Given the description of an element on the screen output the (x, y) to click on. 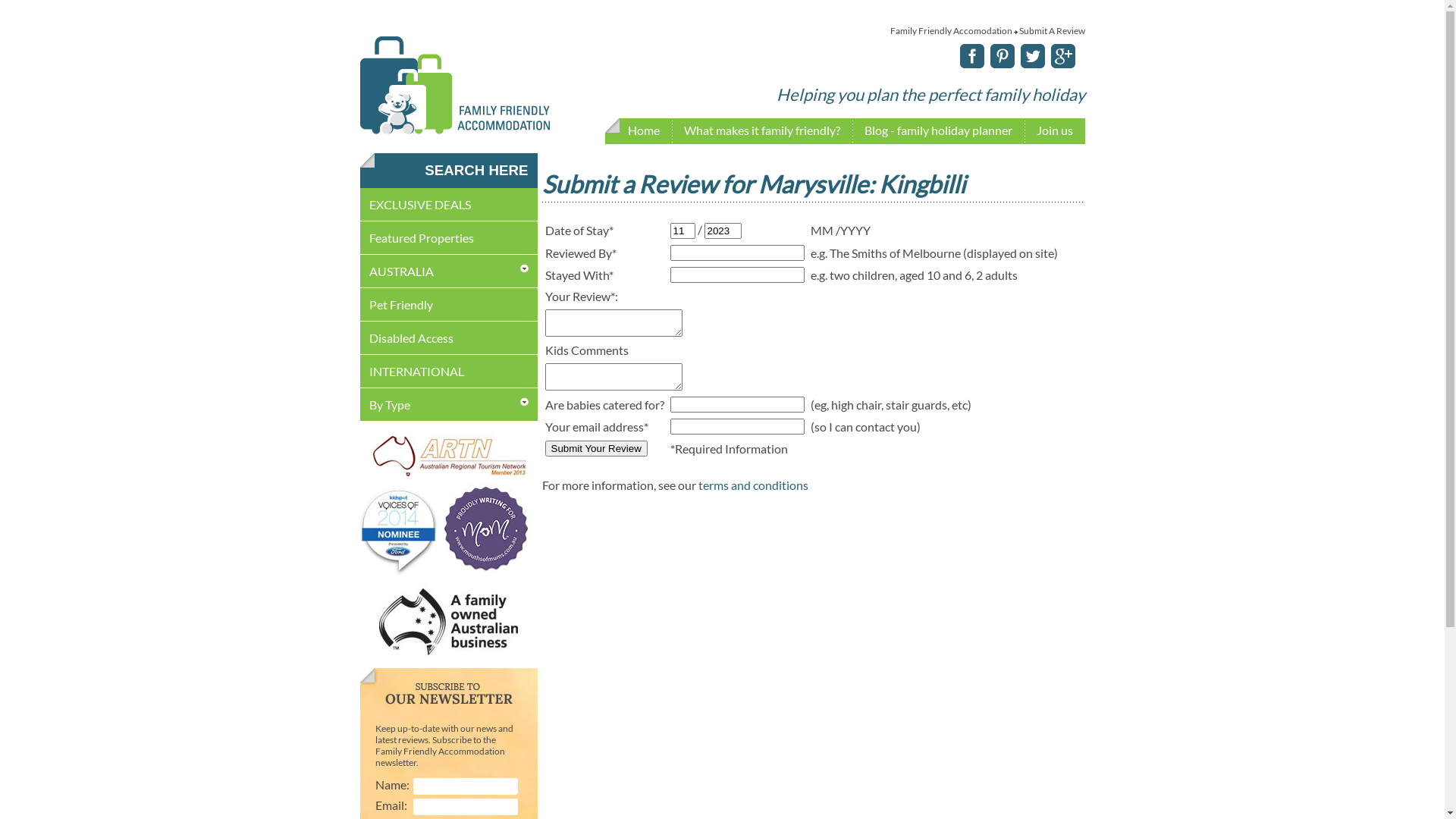
INTERNATIONAL Element type: text (415, 371)
Pet Friendly Element type: text (400, 304)
Follow us on Google Plus Element type: hover (1060, 63)
What makes it family friendly? Element type: text (762, 132)
Join us Element type: text (1053, 132)
By Type Element type: text (388, 404)
Follow us on Twitter Element type: hover (1030, 63)
terms and conditions Element type: text (752, 484)
Disabled Access Element type: text (410, 337)
Family Friendly Accomodation Element type: text (951, 30)
Follow us on Pinterest Element type: hover (999, 63)
EXCLUSIVE DEALS Element type: text (419, 204)
Family Friendly Accomodation Element type: hover (454, 130)
Blog - family holiday planner Element type: text (938, 132)
Featured Properties Element type: text (420, 237)
AUSTRALIA Element type: text (400, 270)
Follow us on Facebook Element type: hover (969, 63)
Submit Your Review Element type: text (595, 448)
Home Element type: text (643, 132)
